Given the description of an element on the screen output the (x, y) to click on. 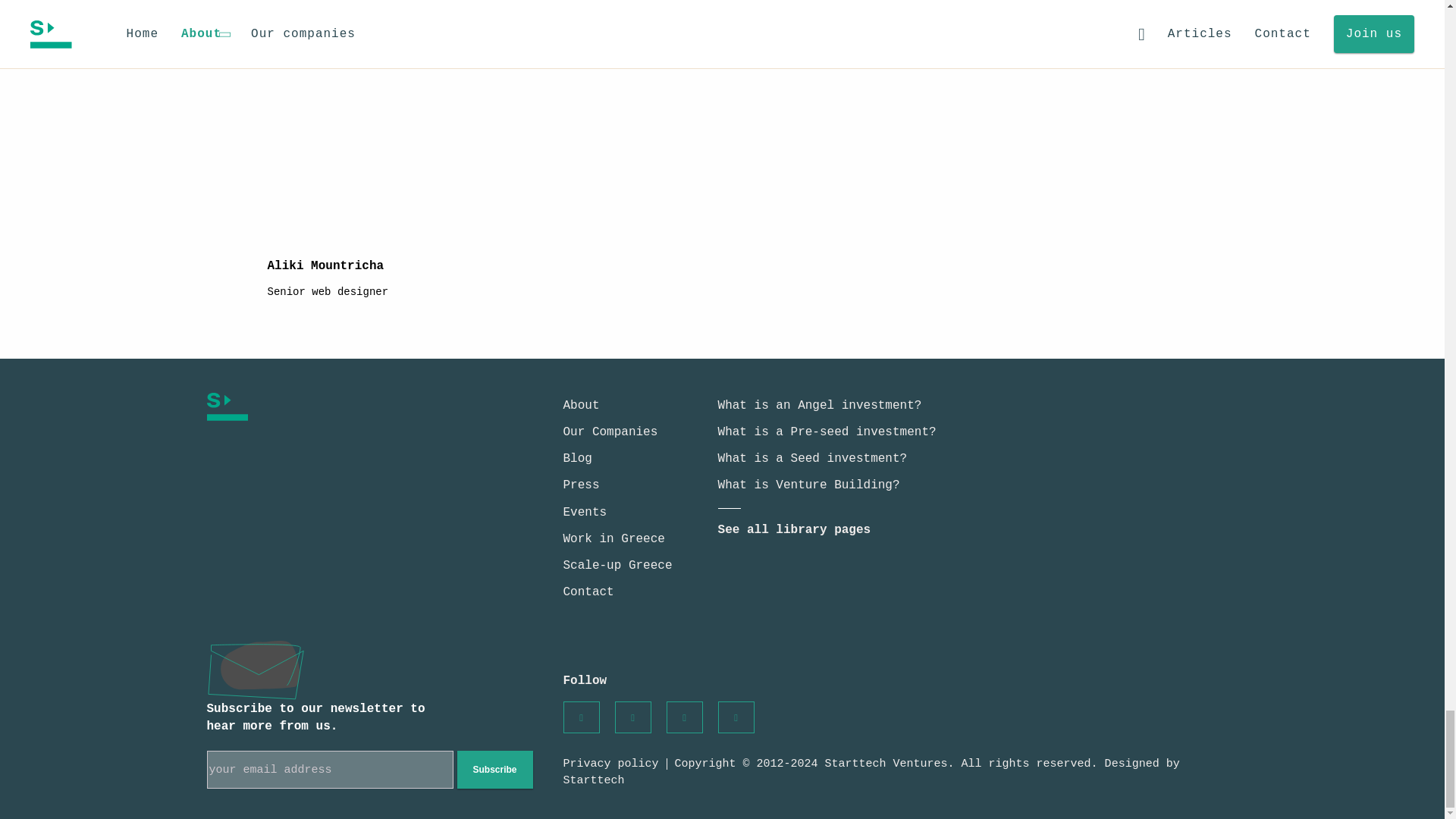
Scale-up Greece (616, 565)
What is Venture Building? (808, 485)
What is a Seed investment? (812, 459)
Press (580, 485)
Work in Greece (612, 539)
Events (584, 512)
What is a Pre-seed investment? (826, 431)
Contact (587, 591)
Blog (576, 459)
What is an Angel investment? (819, 405)
Our Companies (610, 431)
See all library pages (793, 530)
Starttech Ventures (341, 407)
About (580, 405)
Subscribe (494, 769)
